Given the description of an element on the screen output the (x, y) to click on. 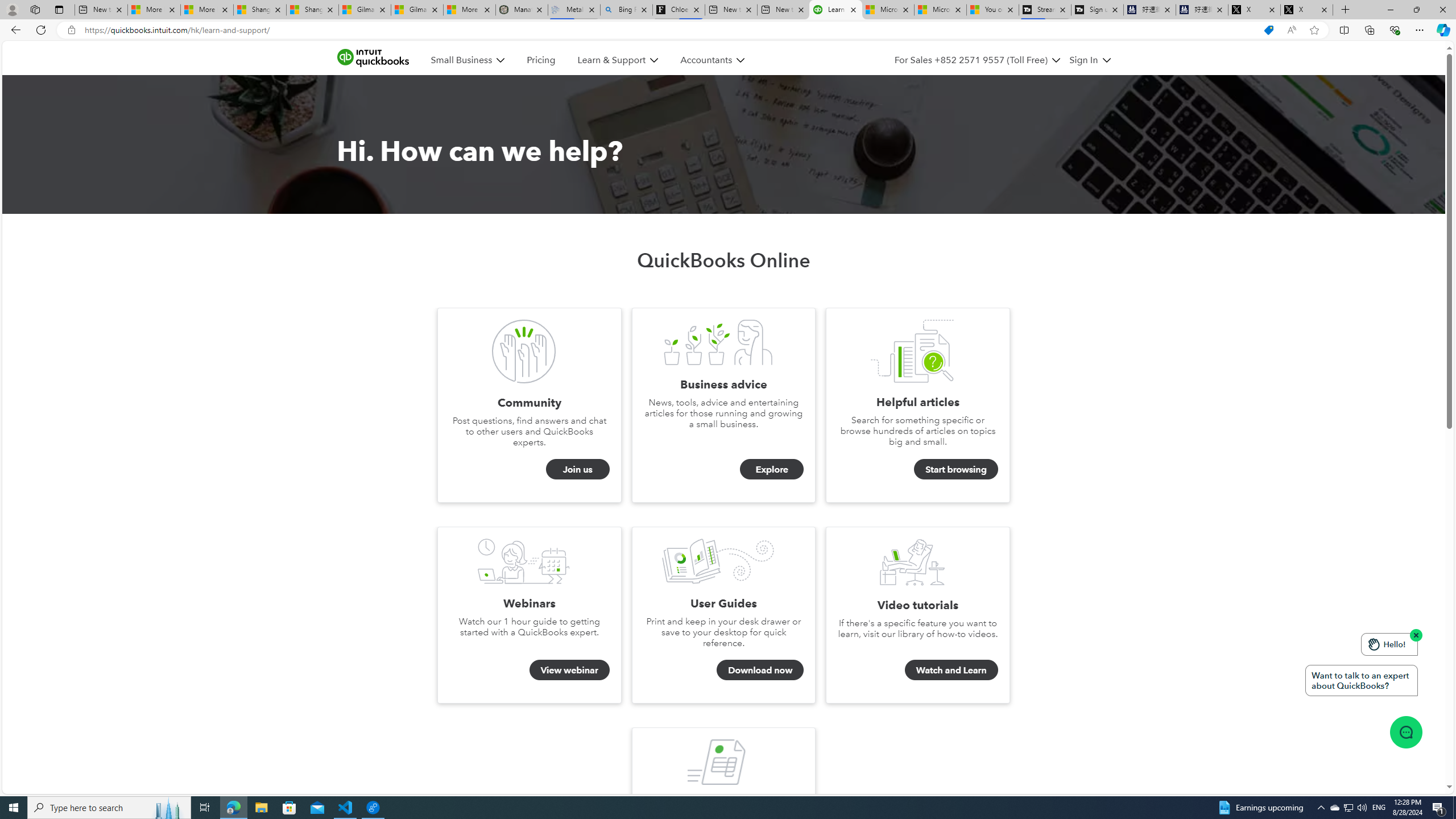
Community (524, 351)
User Guides (717, 560)
Manatee Mortality Statistics | FWC (521, 9)
Learn & Support (617, 60)
